Given the description of an element on the screen output the (x, y) to click on. 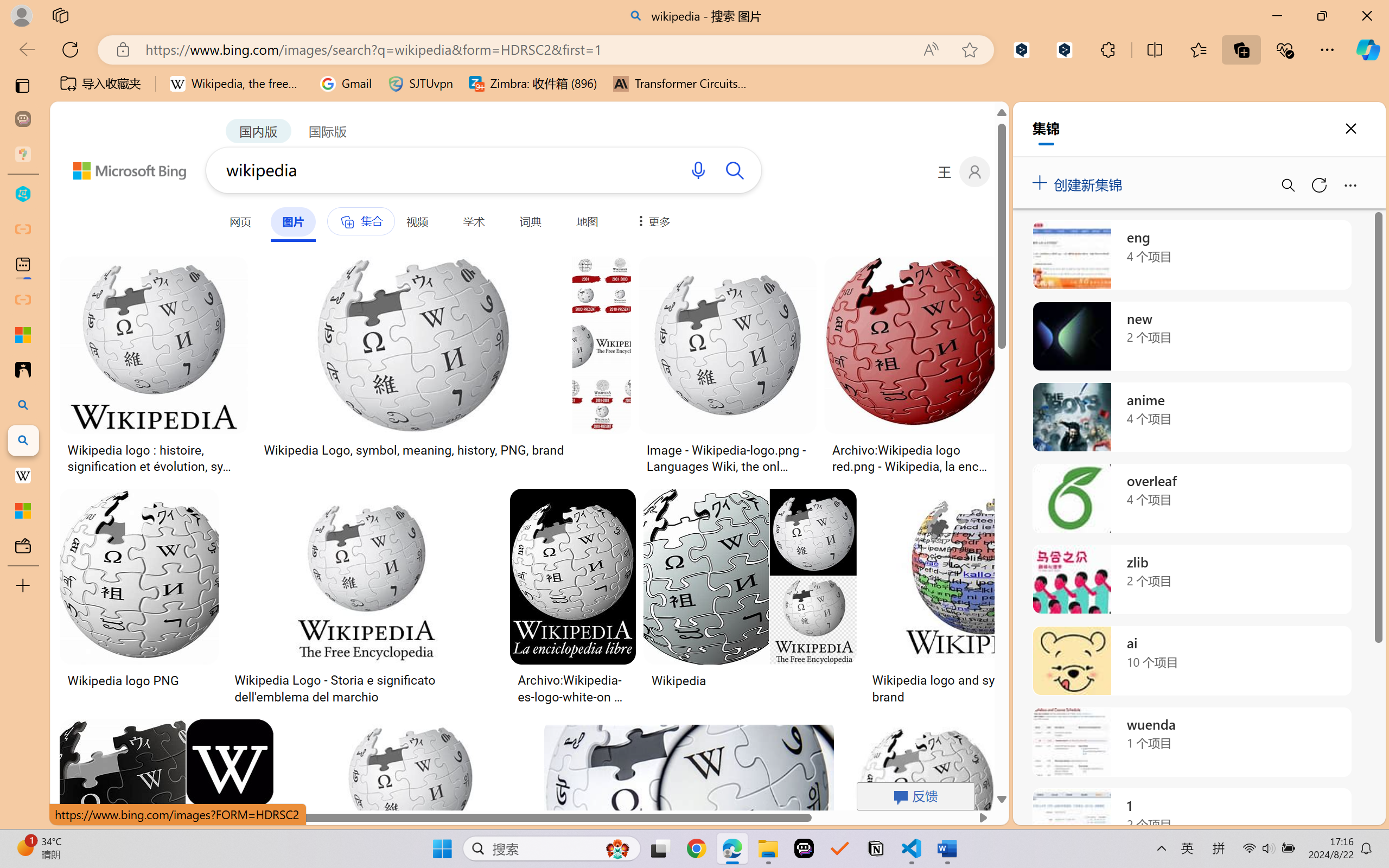
Color & Contrast (213, 91)
Reading Order Pane (287, 62)
Slide Title (258, 62)
Insert Header Row (395, 60)
Accessibility Help (581, 62)
